Given the description of an element on the screen output the (x, y) to click on. 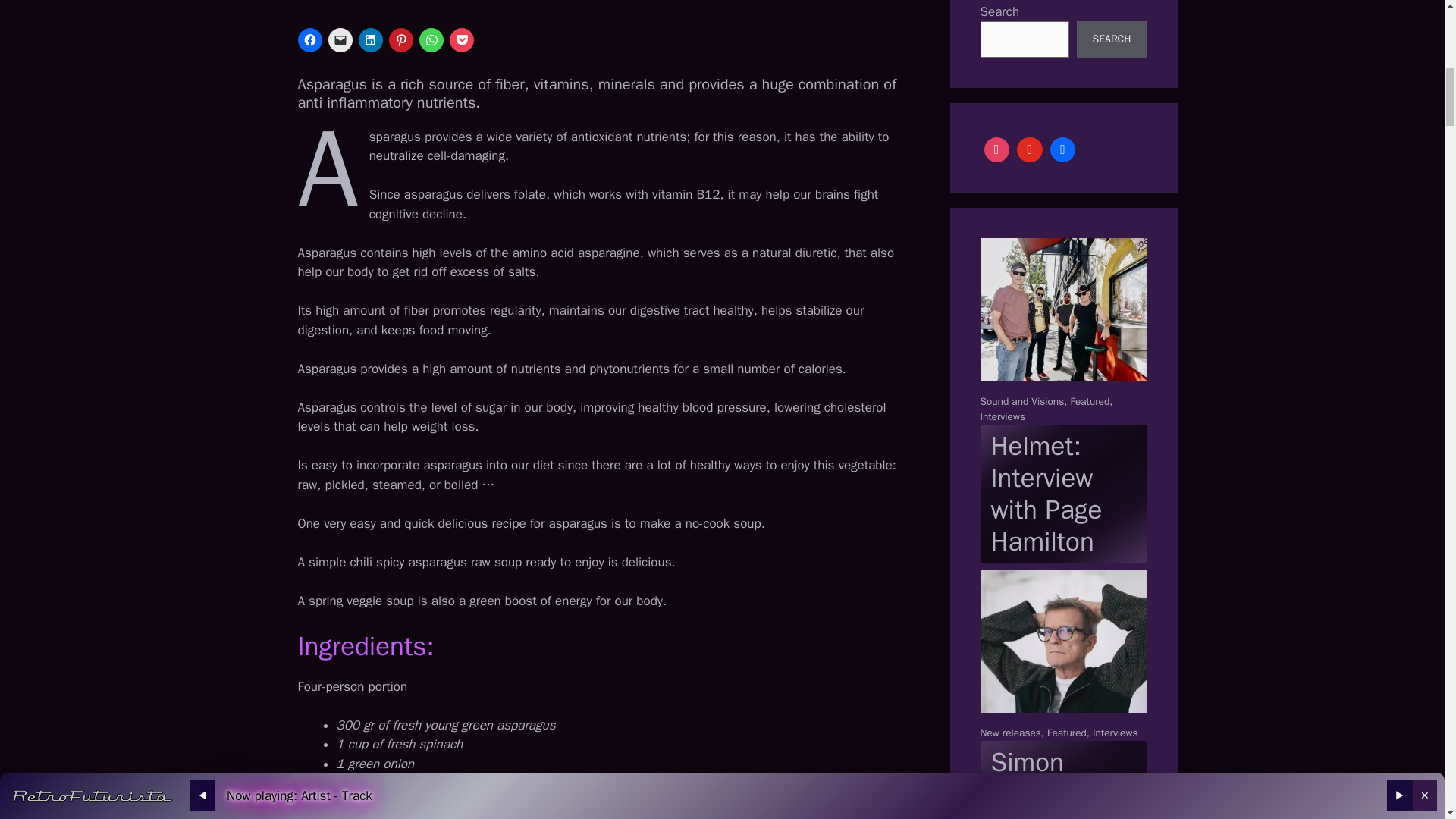
Click to share on Pinterest (400, 39)
Click to share on WhatsApp (430, 39)
Click to share on Facebook (309, 39)
Click to share on LinkedIn (369, 39)
Click to share on Pocket (460, 39)
Click to email a link to a friend (339, 39)
